Given the description of an element on the screen output the (x, y) to click on. 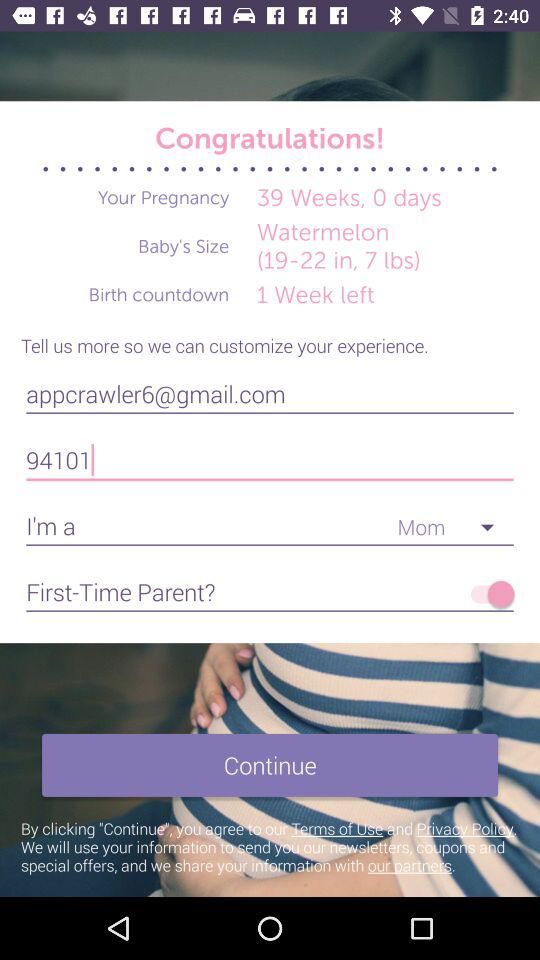
click icon below the continue icon (270, 846)
